Given the description of an element on the screen output the (x, y) to click on. 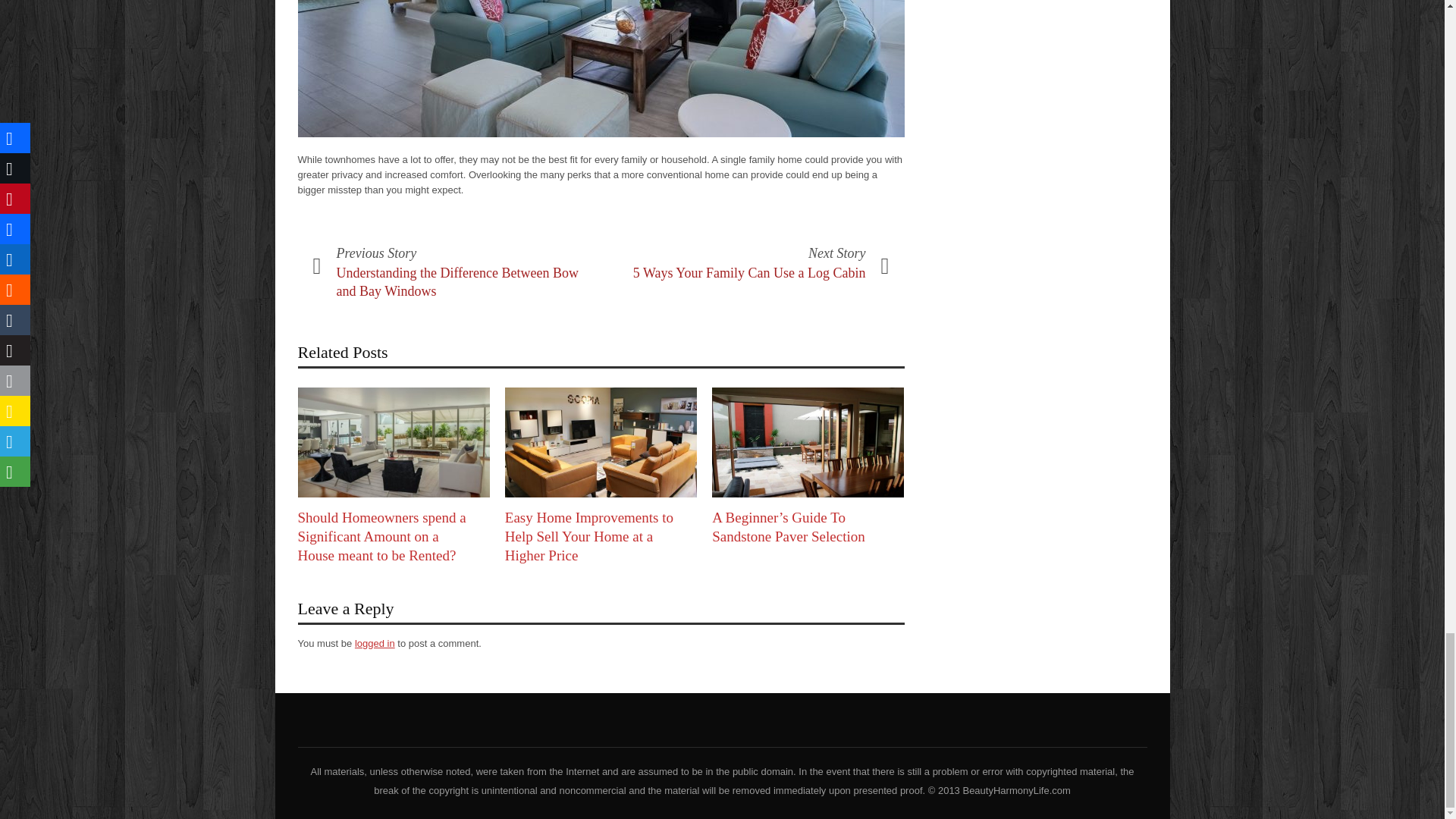
5 Perks of a Single Family Home VS a Townhome (600, 68)
